Given the description of an element on the screen output the (x, y) to click on. 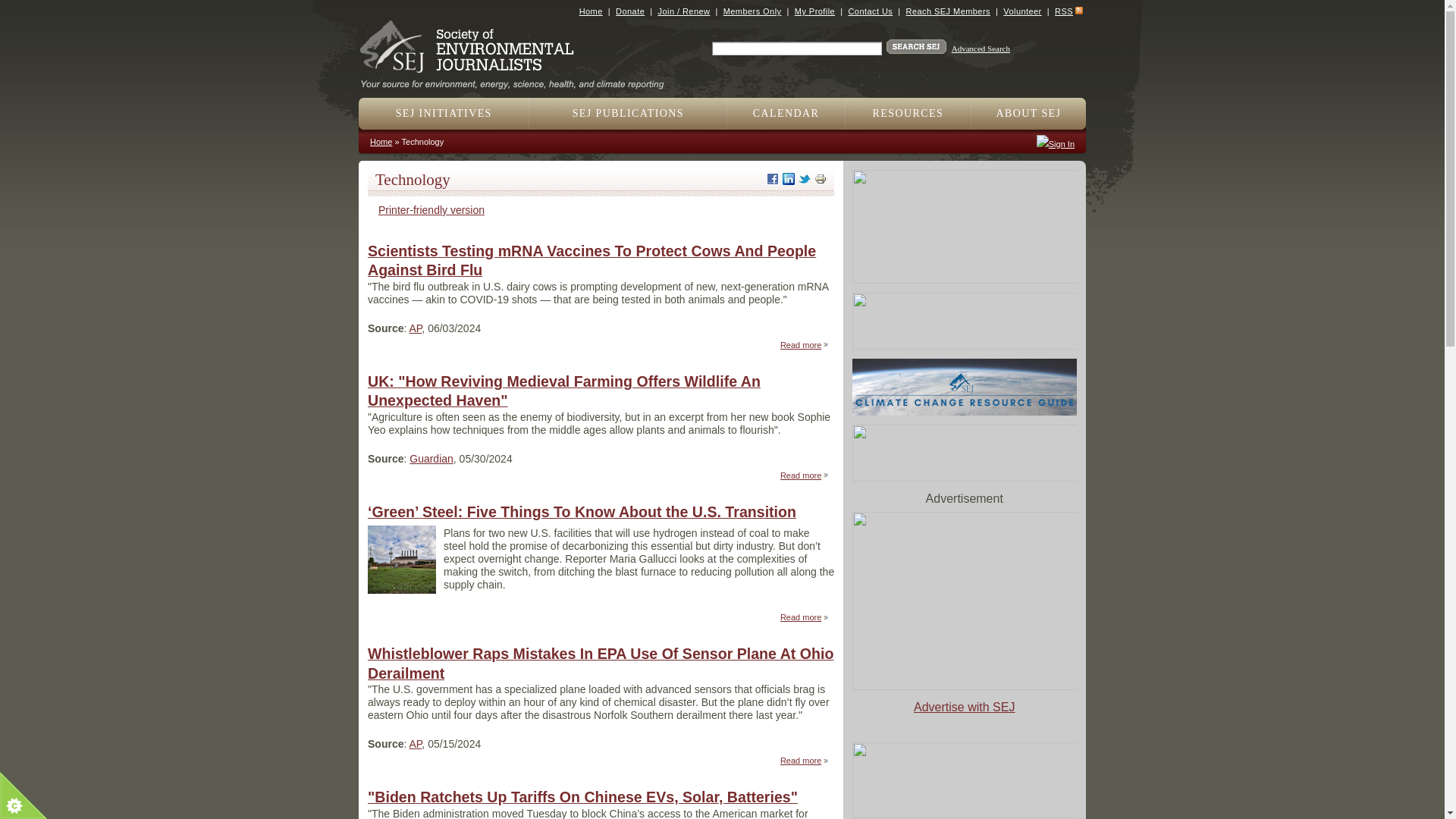
SEJ INITIATIVES (443, 113)
Home (590, 10)
Home (518, 79)
Members Only (752, 10)
My Profile (814, 10)
Volunteer (1022, 10)
RSS (1063, 10)
Contact Us (869, 10)
Donate (630, 10)
Enter the terms you wish to search for. (796, 48)
SEJ PUBLICATIONS (627, 113)
Reach SEJ Members (947, 10)
Advanced Search (981, 48)
